Given the description of an element on the screen output the (x, y) to click on. 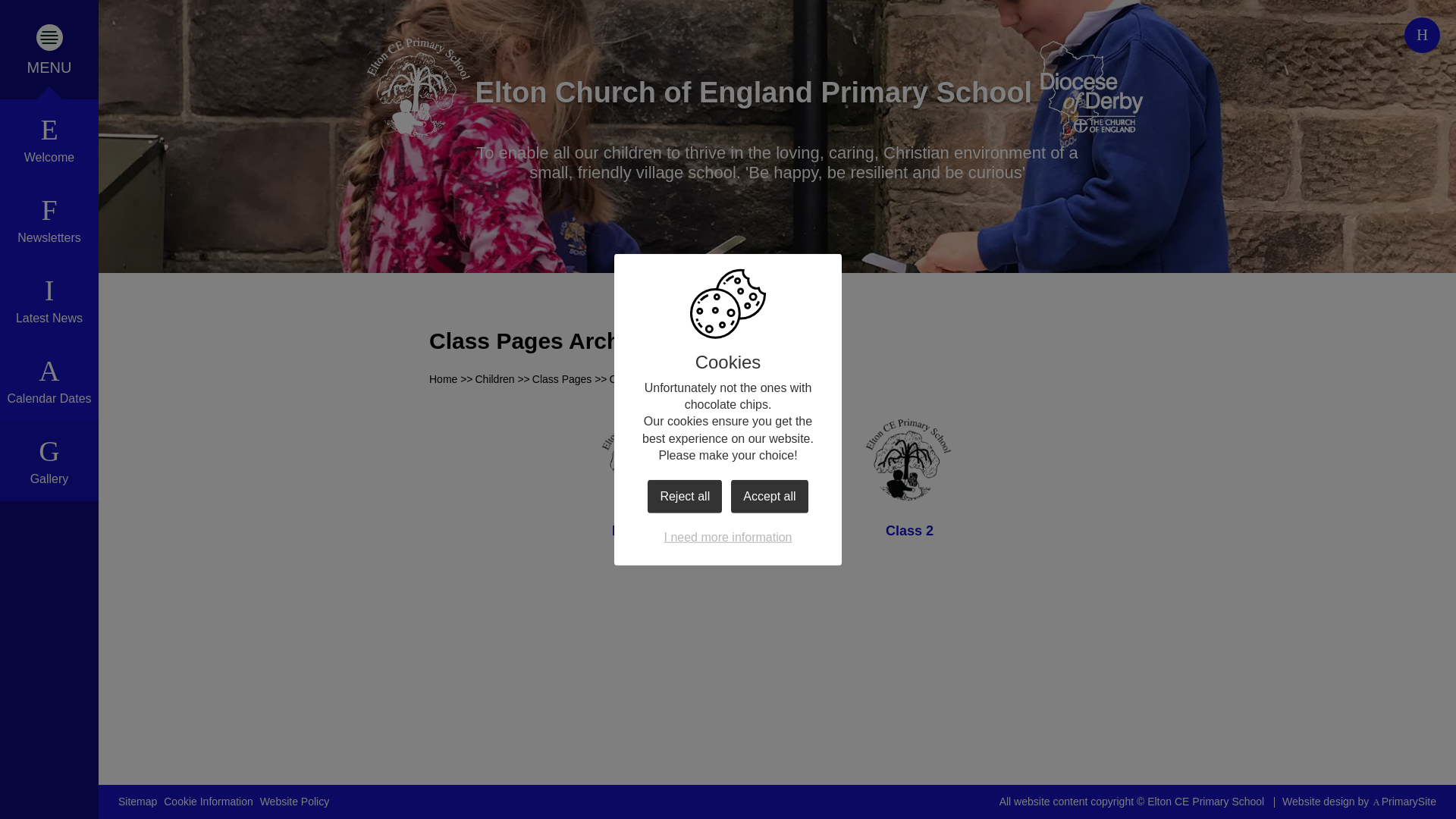
Children (493, 378)
Class Pages (562, 378)
Home Page (416, 87)
Home (443, 378)
Log in (1422, 35)
Class Pages Archive: 2023-2024 (686, 378)
